Given the description of an element on the screen output the (x, y) to click on. 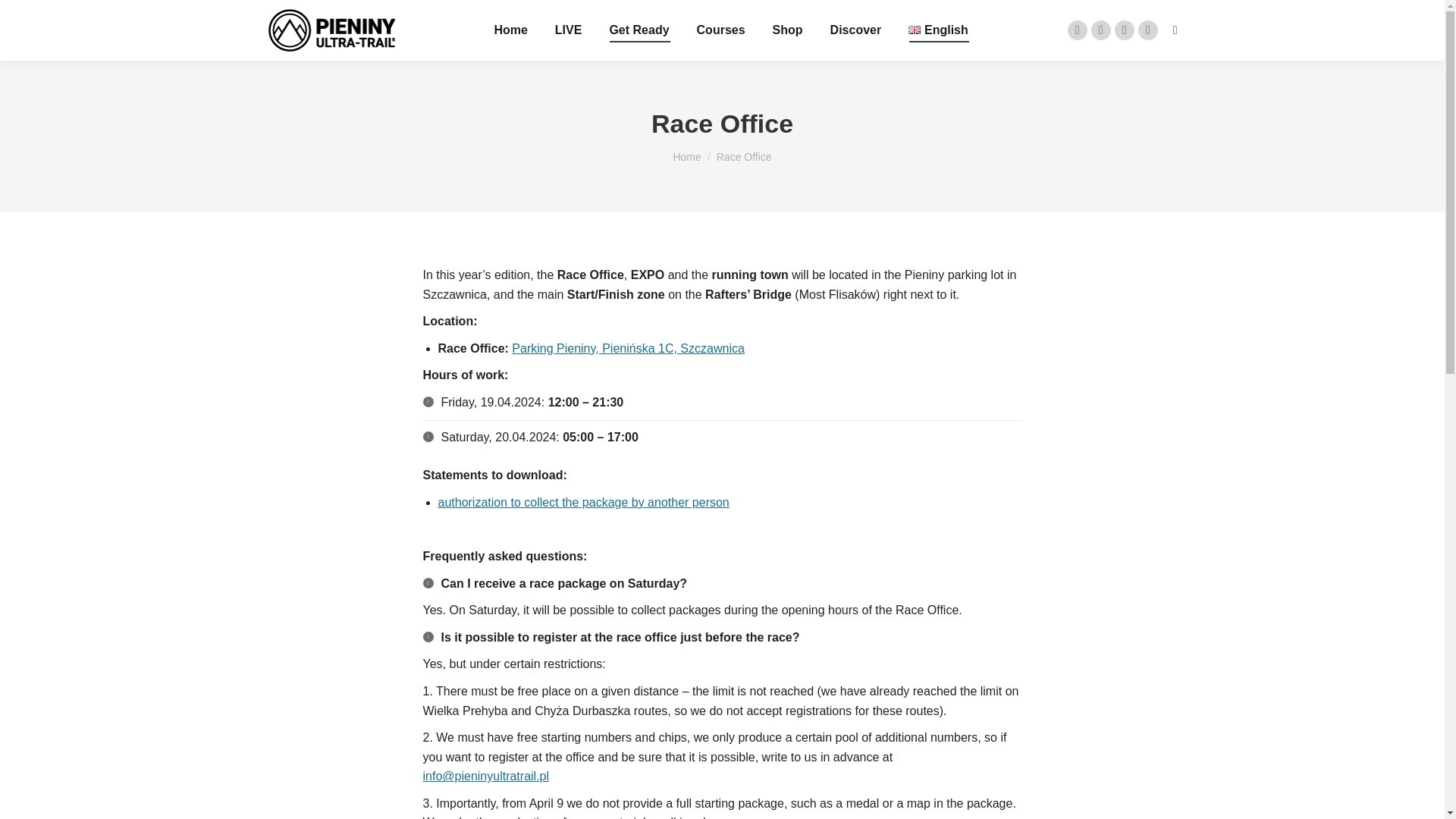
Shop (788, 29)
Instagram page opens in new window (1100, 30)
YouTube page opens in new window (1124, 30)
Facebook page opens in new window (1077, 30)
Mail page opens in new window (1147, 30)
LIVE (568, 29)
Courses (721, 29)
Get Ready (638, 29)
Home (509, 29)
Discover (856, 29)
